Given the description of an element on the screen output the (x, y) to click on. 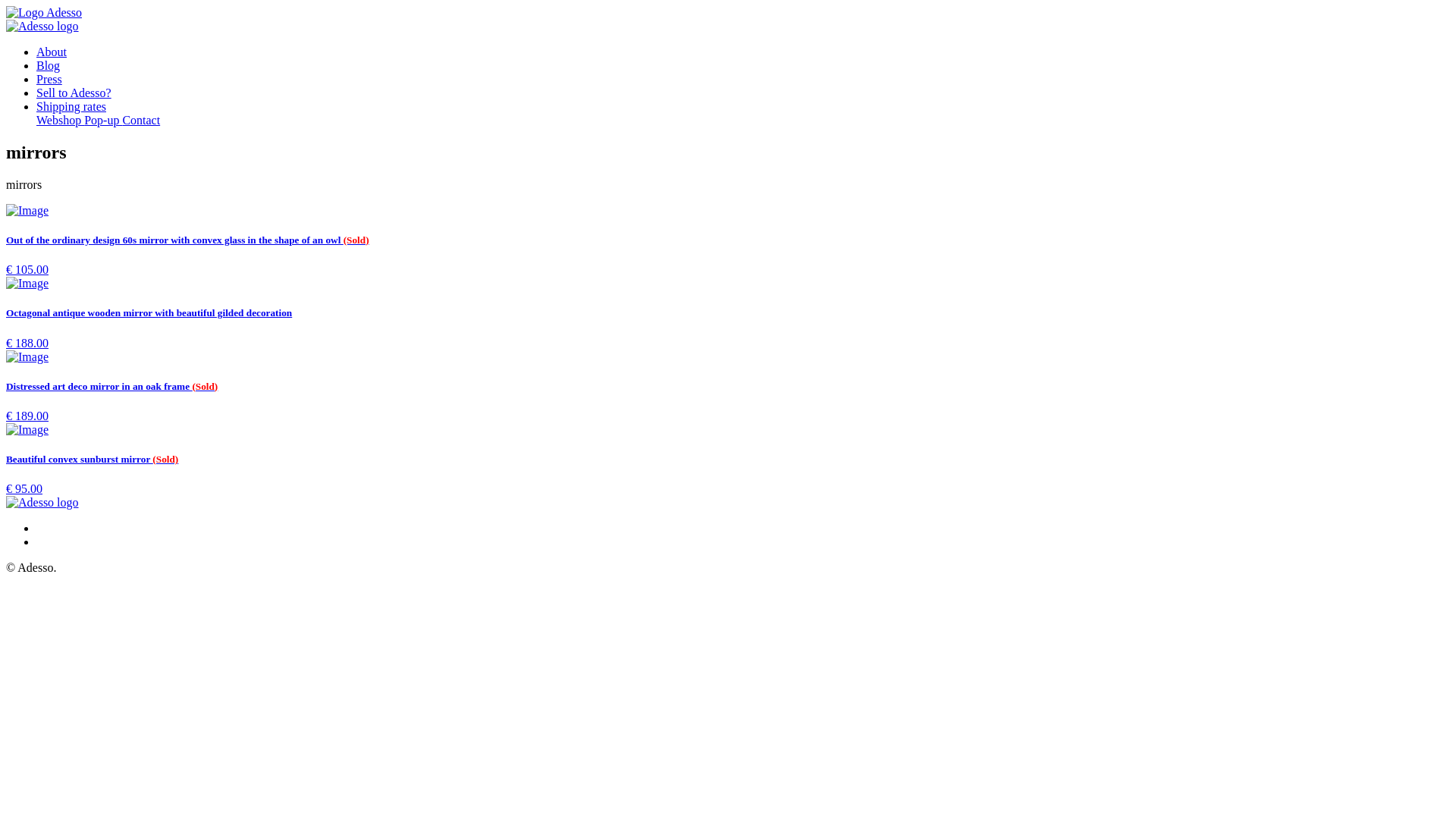
Webshop Element type: text (60, 119)
About Element type: text (51, 51)
Shipping rates Element type: text (71, 106)
Blog Element type: text (47, 65)
Sell to Adesso? Element type: text (73, 92)
Press Element type: text (49, 78)
Pop-up Element type: text (103, 119)
Contact Element type: text (141, 119)
